Given the description of an element on the screen output the (x, y) to click on. 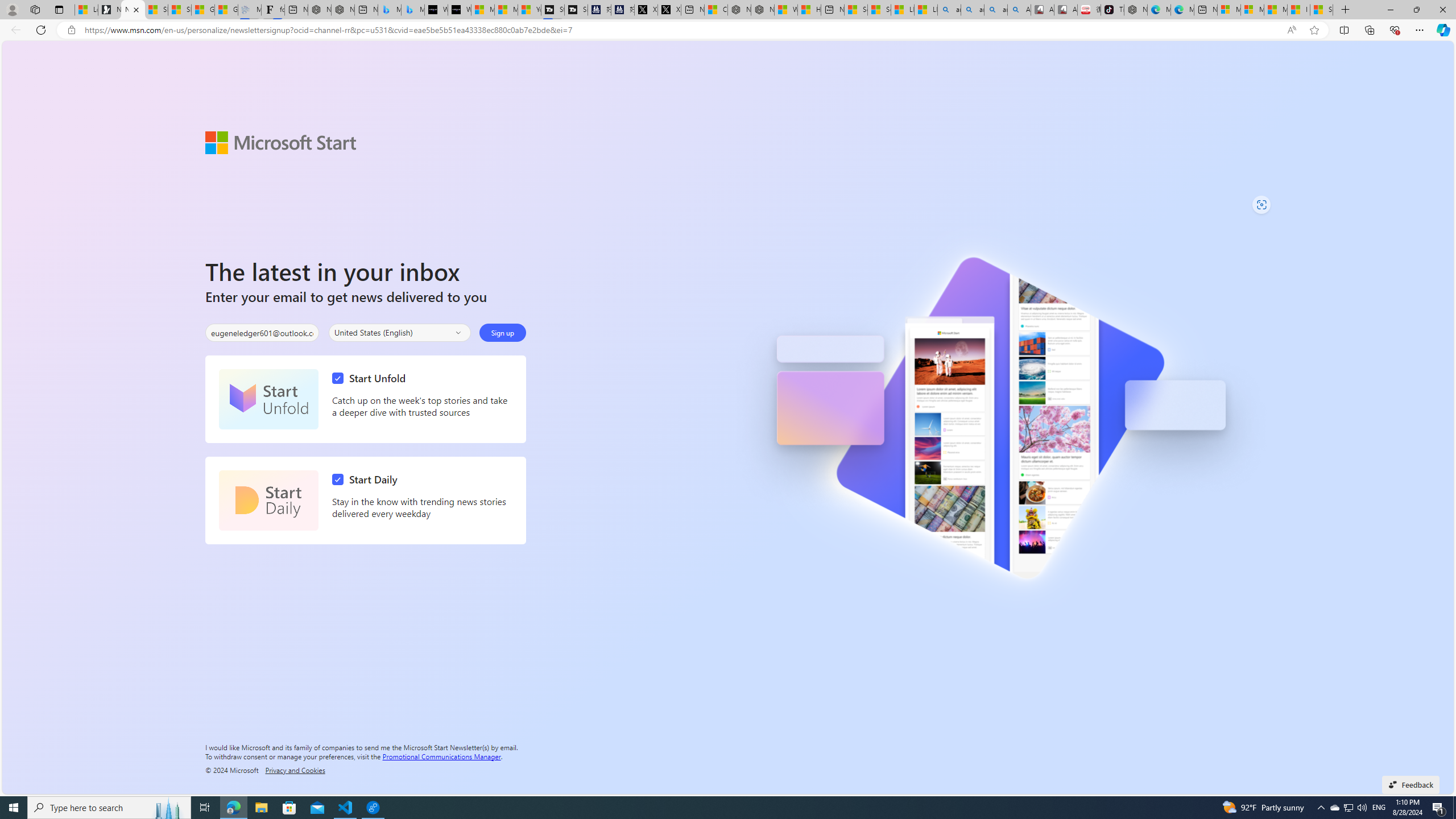
Start Daily (268, 500)
Start Unfold (268, 399)
Start Daily (367, 479)
Local - MSN (86, 9)
All Cubot phones (1065, 9)
Streaming Coverage | T3 (552, 9)
